Given the description of an element on the screen output the (x, y) to click on. 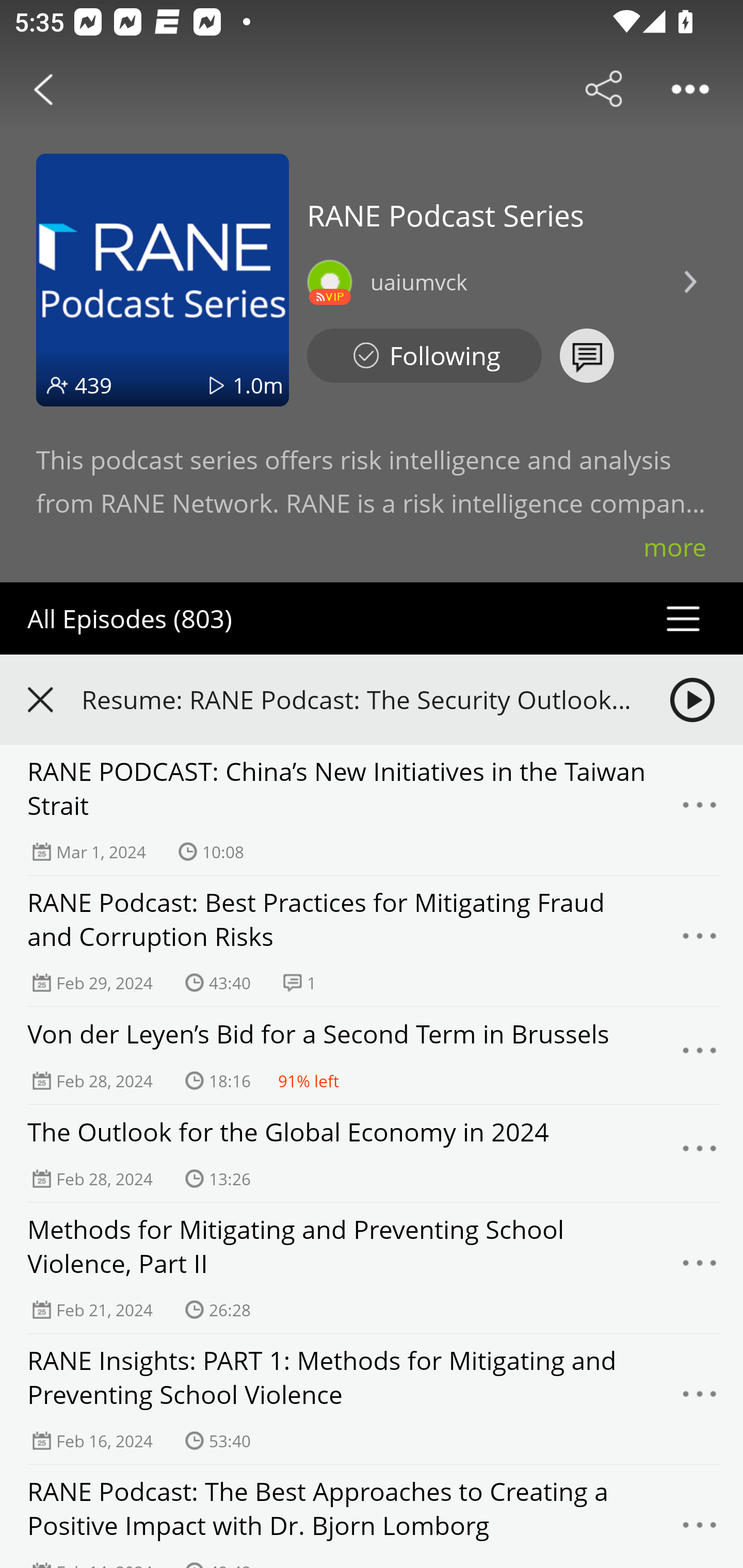
Back (43, 88)
Podbean Following (423, 355)
439 (93, 384)
more (674, 546)
Menu (699, 809)
Menu (699, 941)
Menu (699, 1055)
Menu (699, 1153)
Menu (699, 1268)
Menu (699, 1399)
Menu (699, 1527)
